Given the description of an element on the screen output the (x, y) to click on. 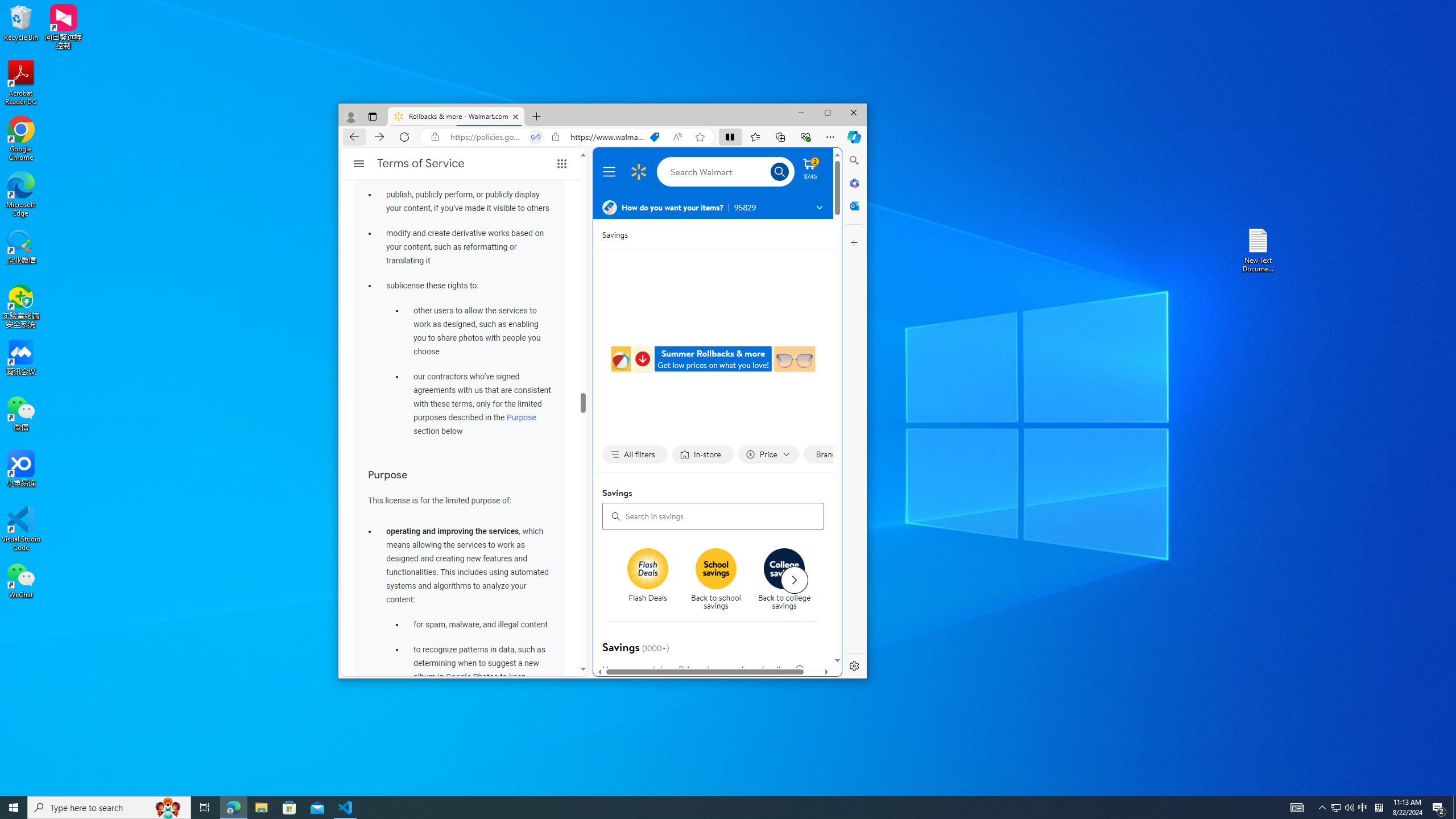
New Text Document (2) (1258, 250)
Back to school savings (719, 579)
Q2790: 100% (1349, 807)
User Promoted Notification Area (1342, 807)
WeChat (21, 580)
legal information (798, 669)
Visual Studio Code (21, 528)
Maximize (826, 112)
